Given the description of an element on the screen output the (x, y) to click on. 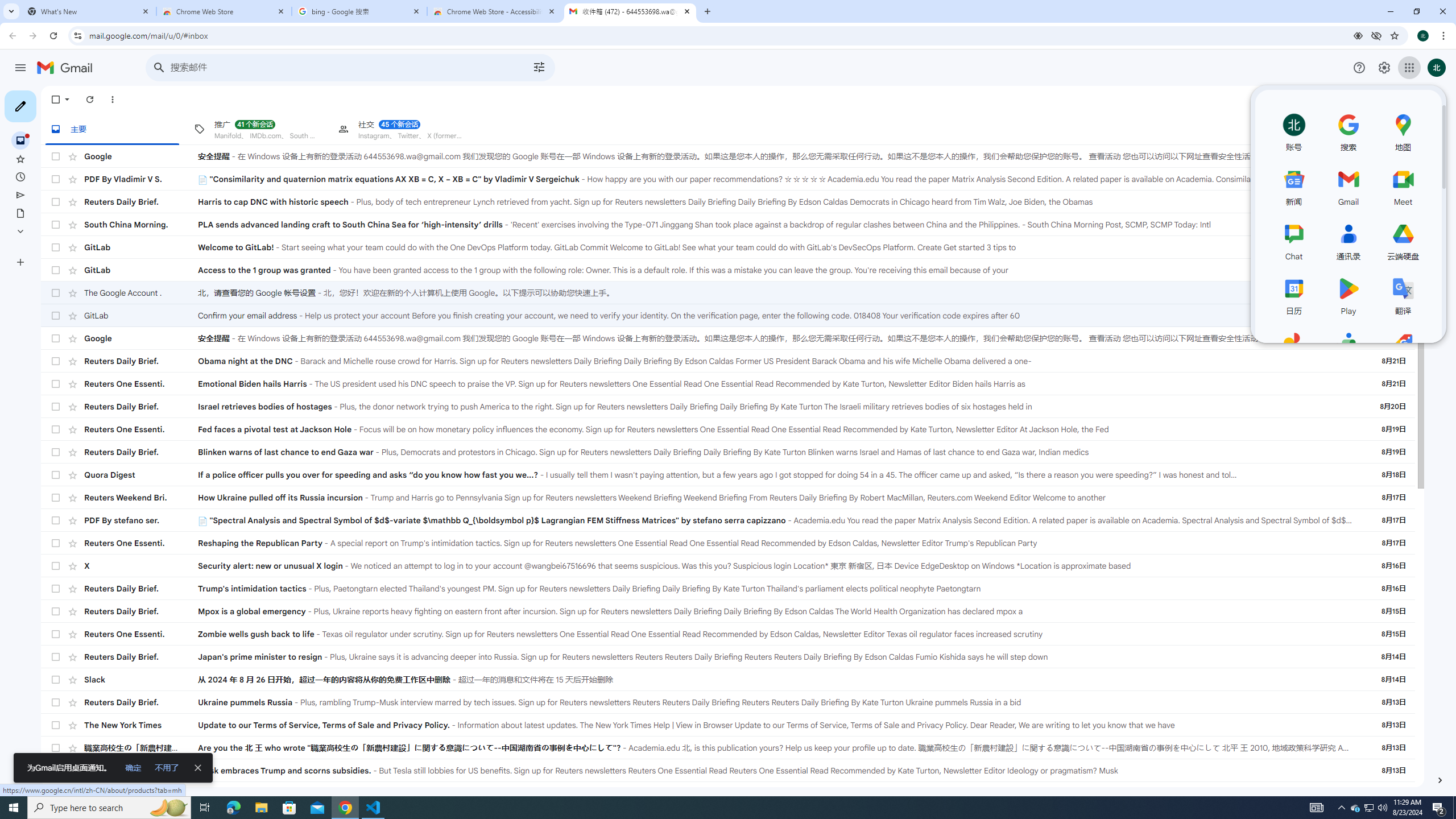
System (6, 6)
